Given the description of an element on the screen output the (x, y) to click on. 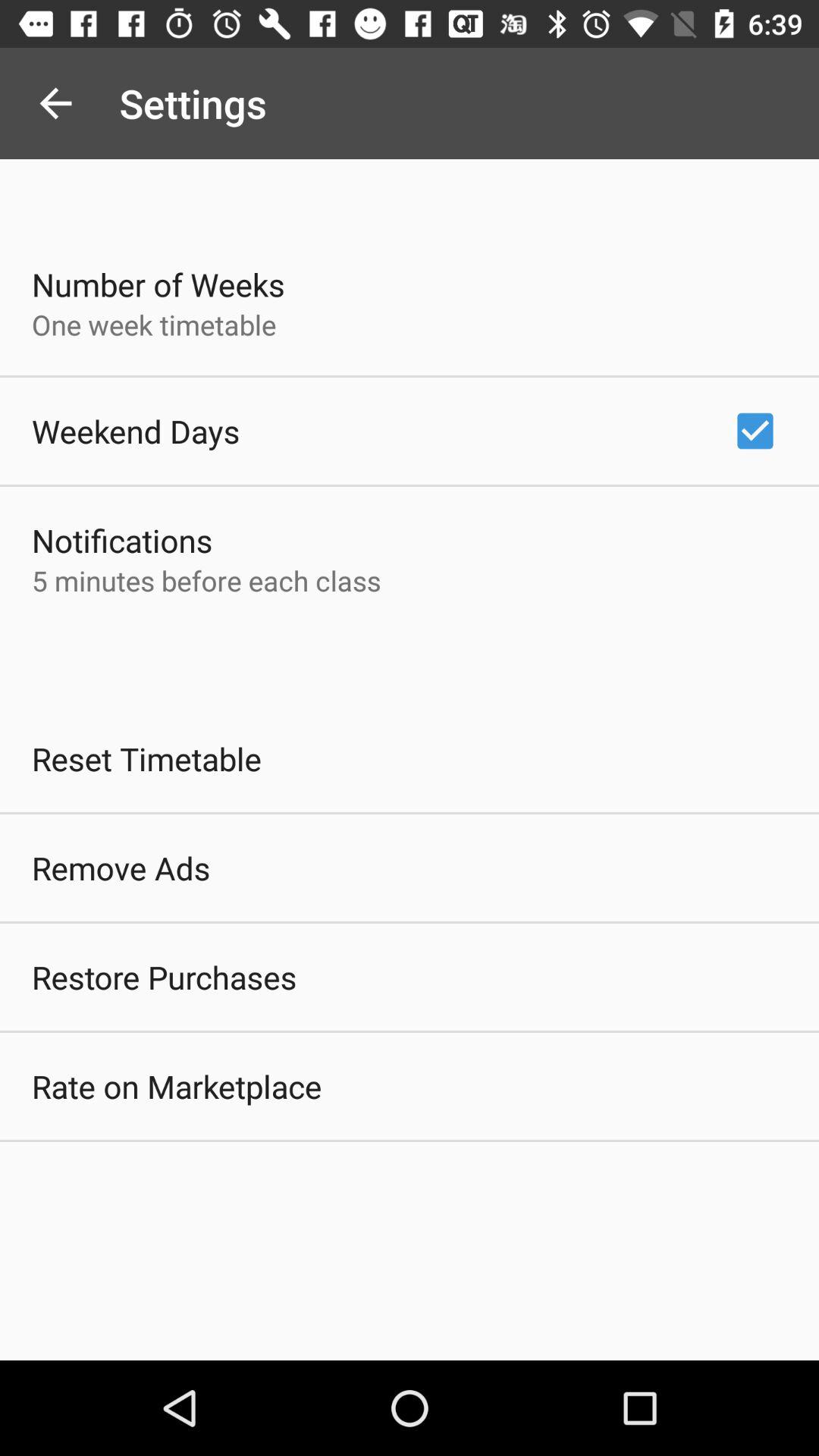
turn on the app above the number of weeks (55, 103)
